Given the description of an element on the screen output the (x, y) to click on. 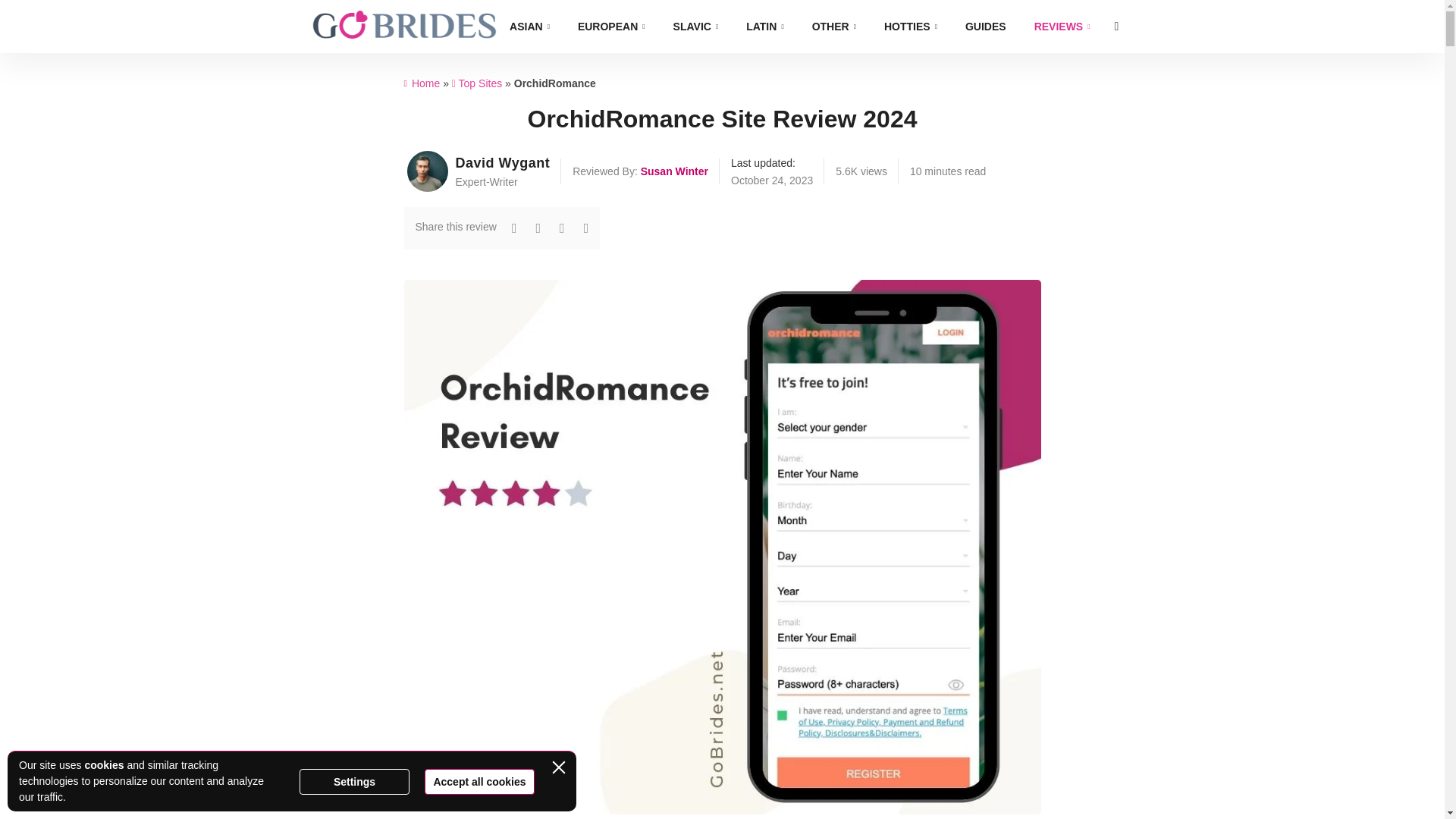
Posts by David Wygant (502, 162)
Posts by David Wygant (430, 170)
EUROPEAN (611, 26)
GoBrides (404, 26)
